Given the description of an element on the screen output the (x, y) to click on. 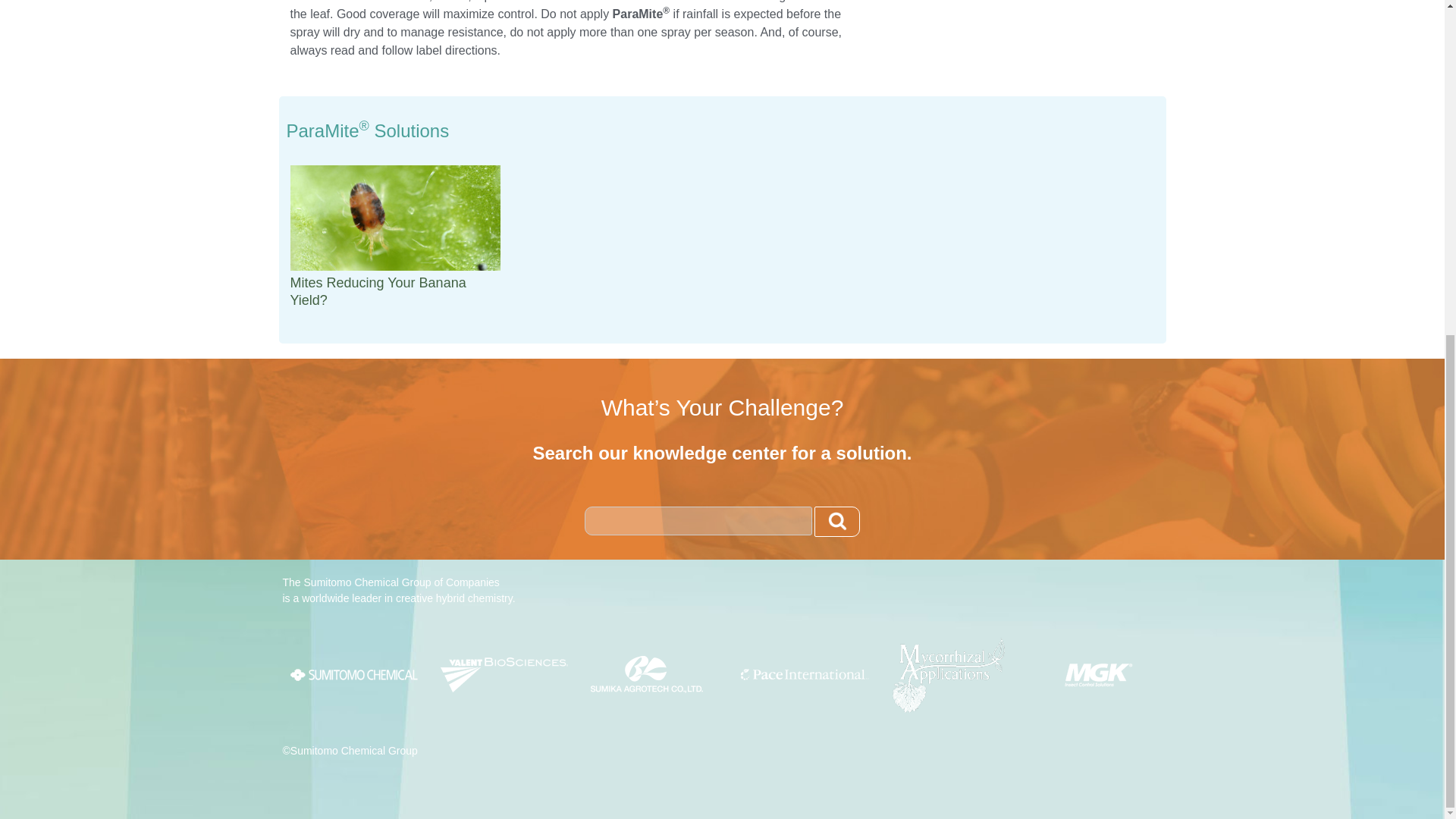
sumitomo (352, 674)
valentbio (504, 674)
sumika (647, 674)
mgk (1098, 674)
pace (804, 674)
myco (947, 674)
Mites Reducing Your Banana Yield? (377, 291)
